Given the description of an element on the screen output the (x, y) to click on. 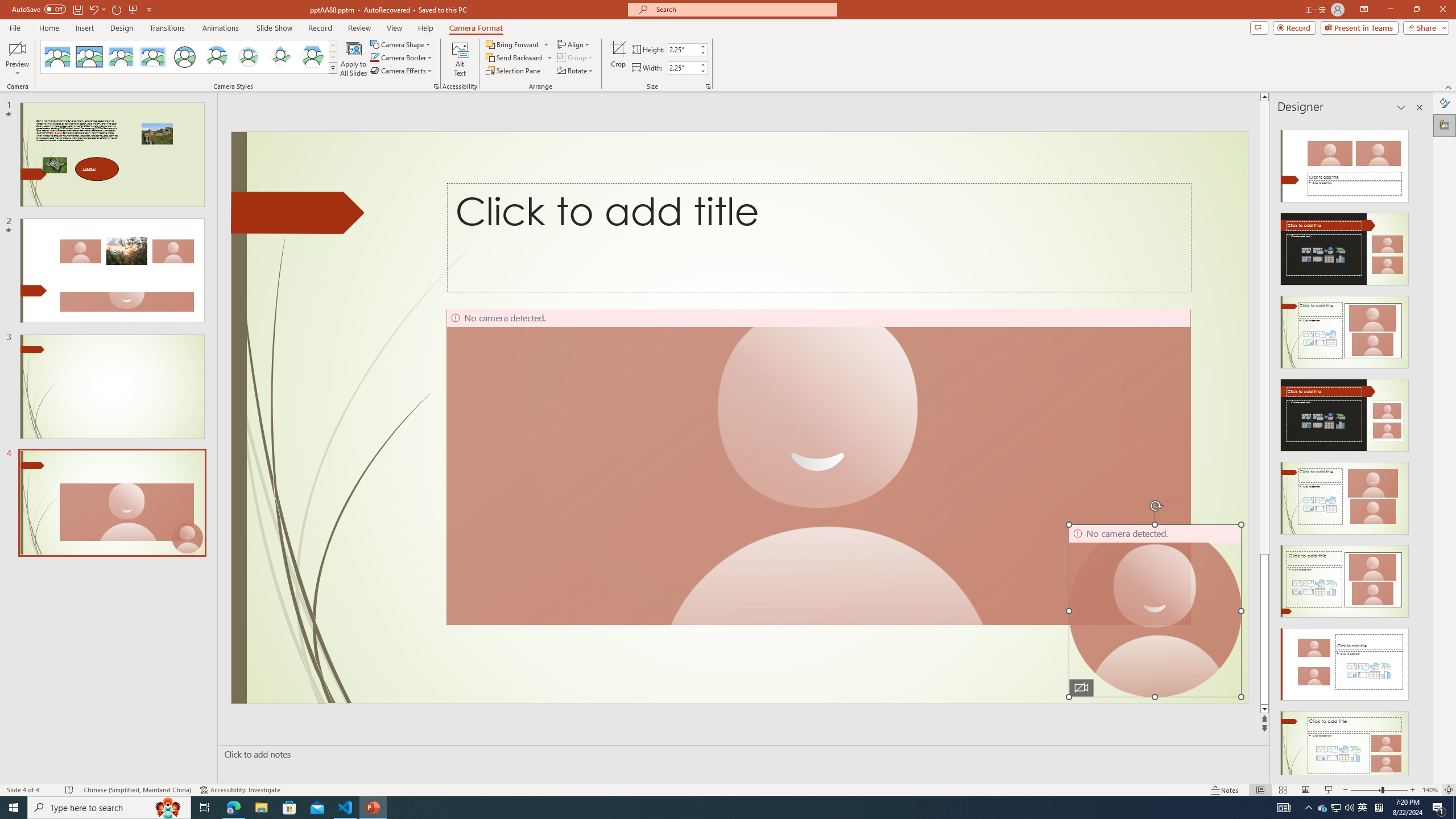
Camera 4, No camera detected. (1154, 610)
Group (575, 56)
Size and Position... (707, 85)
Cameo Height (682, 49)
Simple Frame Circle (184, 56)
Simple Frame Rectangle (88, 56)
Send Backward (514, 56)
